Given the description of an element on the screen output the (x, y) to click on. 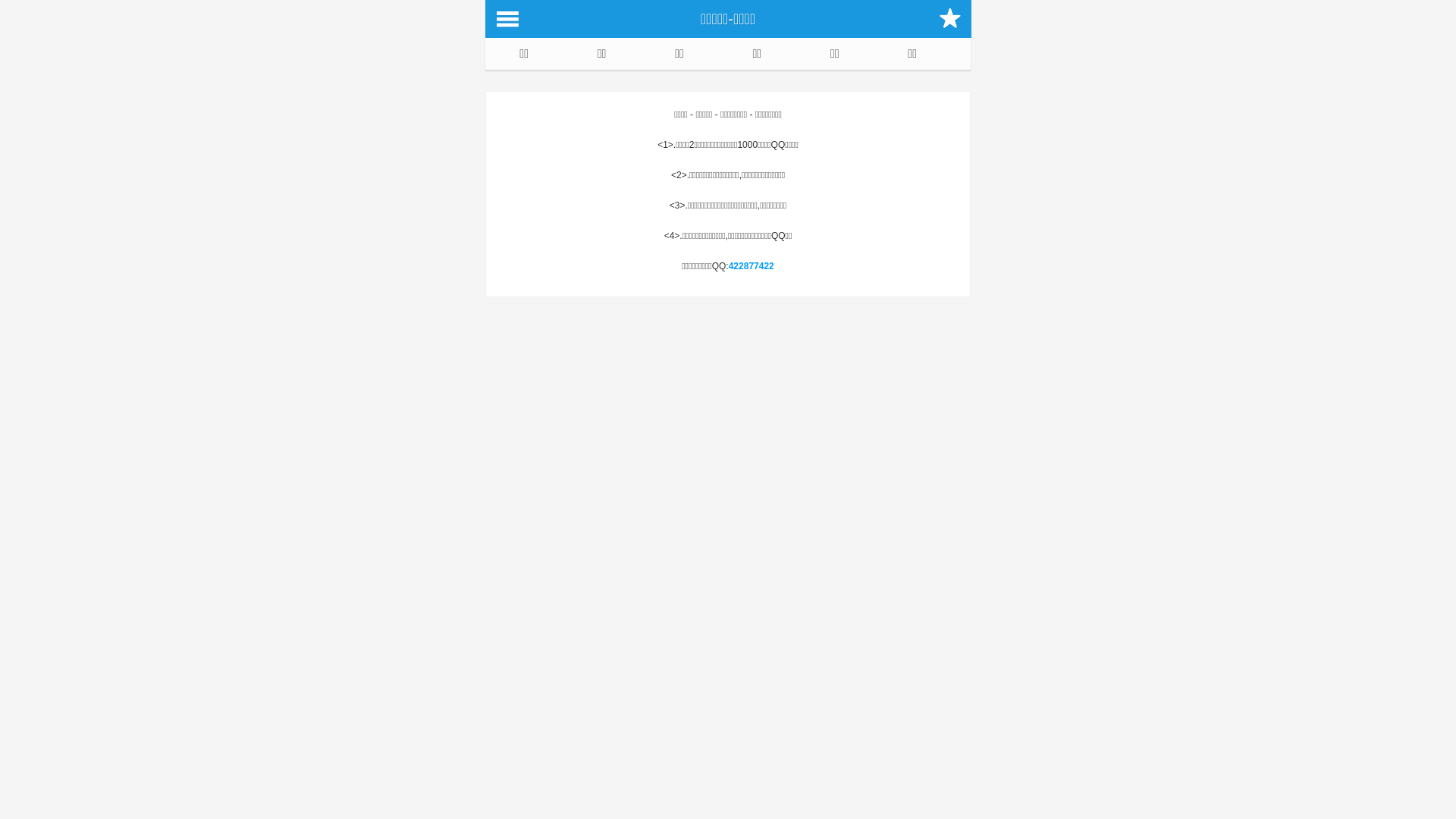
422877422 Element type: text (751, 265)
